Given the description of an element on the screen output the (x, y) to click on. 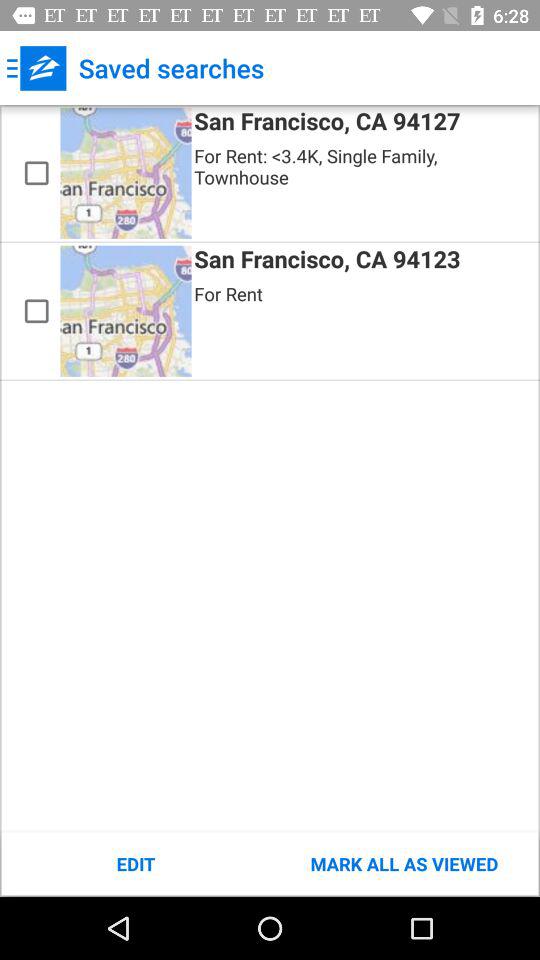
select the app to the left of the saved searches icon (36, 68)
